Given the description of an element on the screen output the (x, y) to click on. 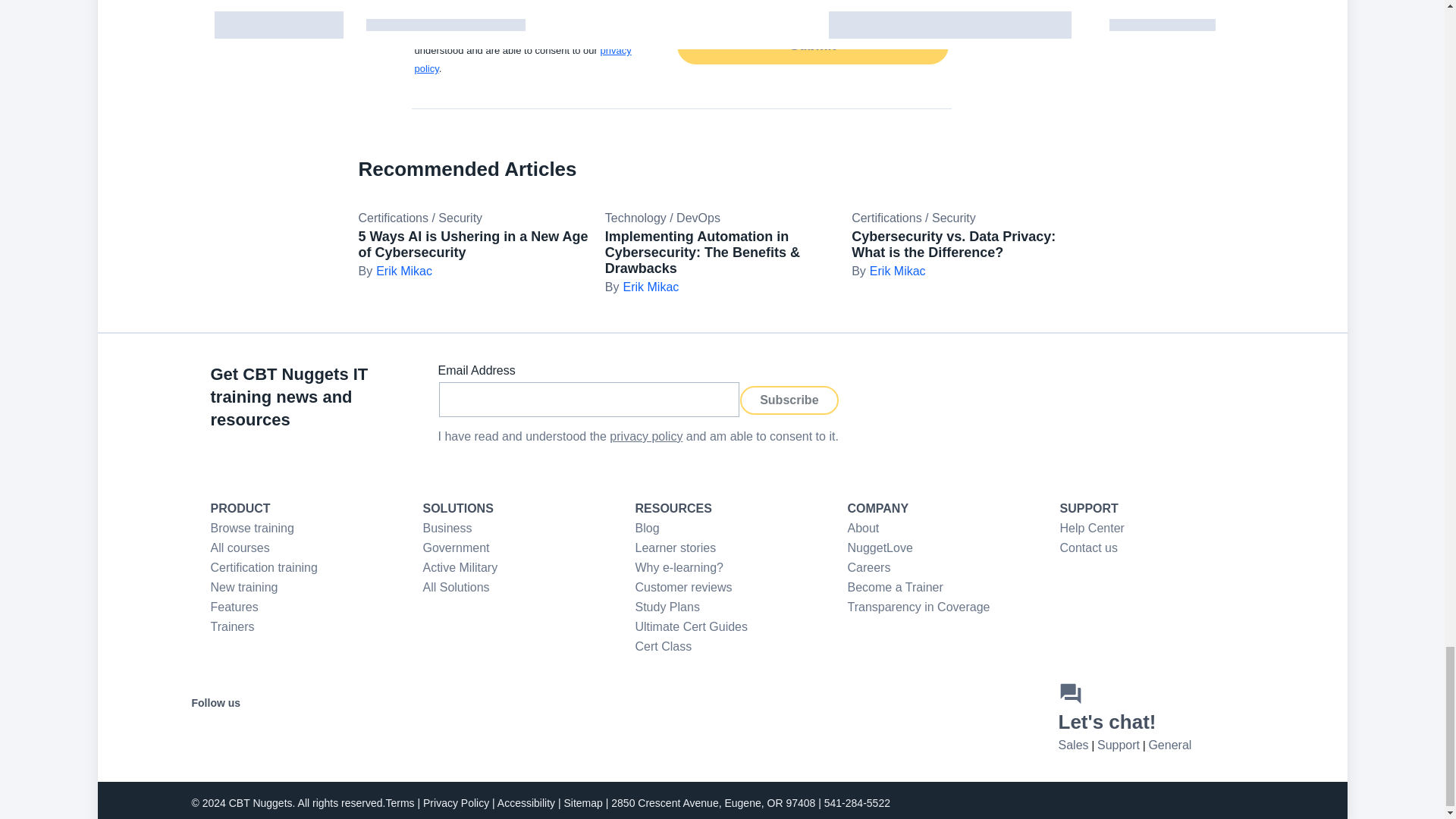
Erik Mikac (887, 270)
Browse training (252, 527)
privacy policy (646, 436)
Cybersecurity vs. Data Privacy: What is the Difference? (953, 244)
Submit (812, 45)
Erik Mikac (394, 270)
Subscribe (788, 399)
Erik Mikac (641, 286)
5 Ways AI is Ushering in a New Age of Cybersecurity (473, 244)
privacy policy (521, 59)
